Given the description of an element on the screen output the (x, y) to click on. 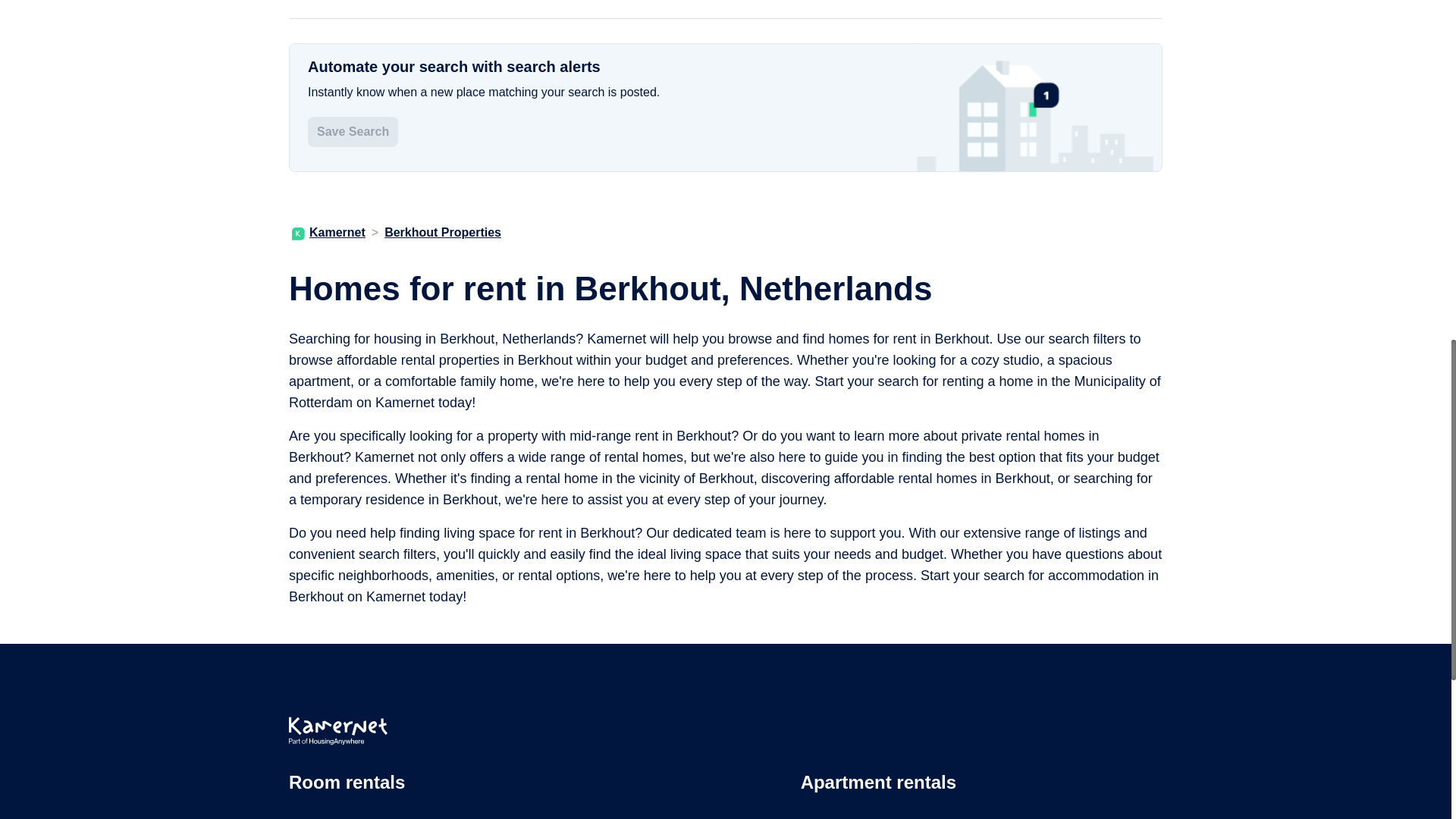
Berkhout Properties (442, 232)
Kamernet (328, 232)
Save Search (352, 132)
